Given the description of an element on the screen output the (x, y) to click on. 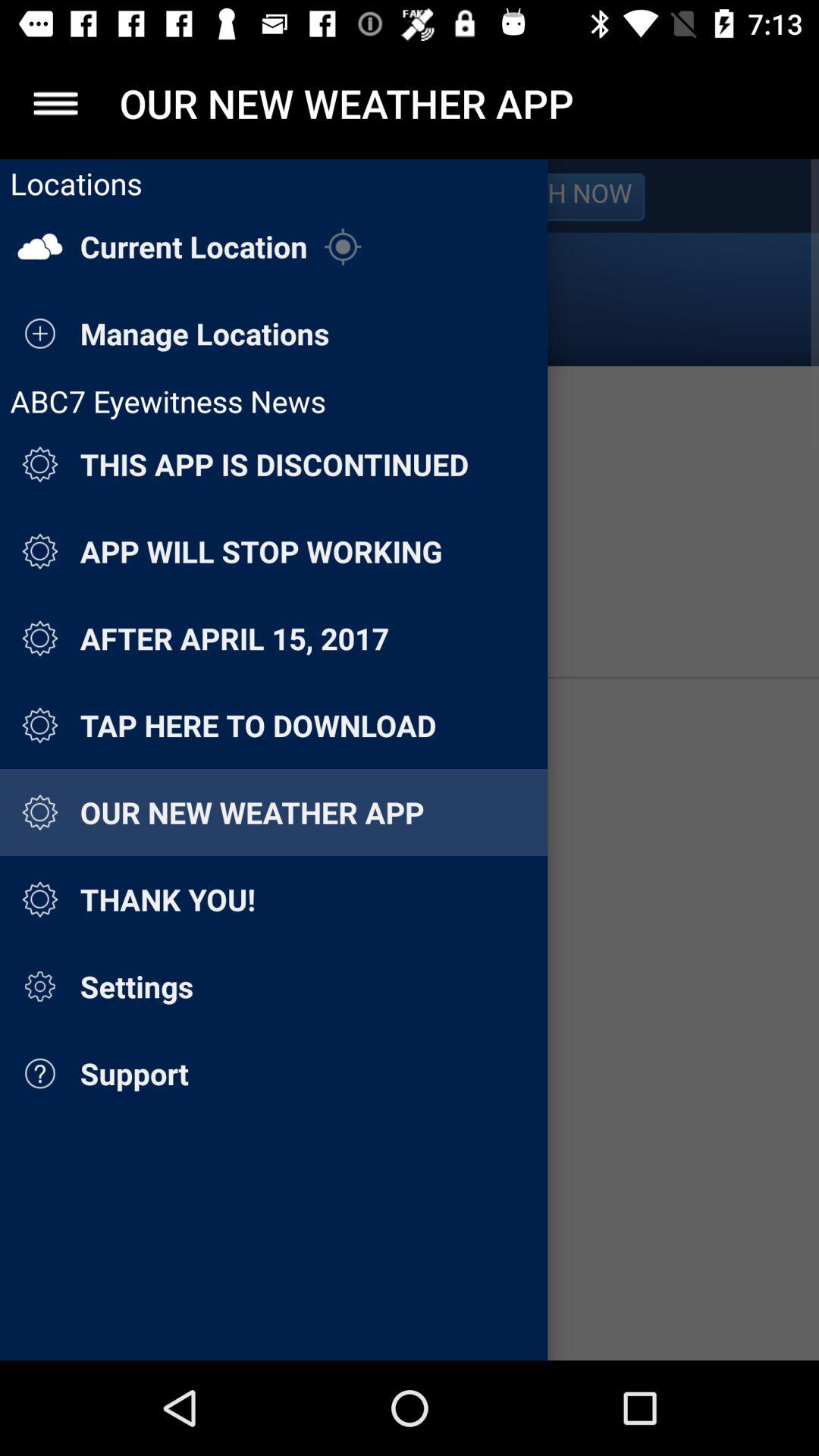
sidebar menu (55, 103)
